Given the description of an element on the screen output the (x, y) to click on. 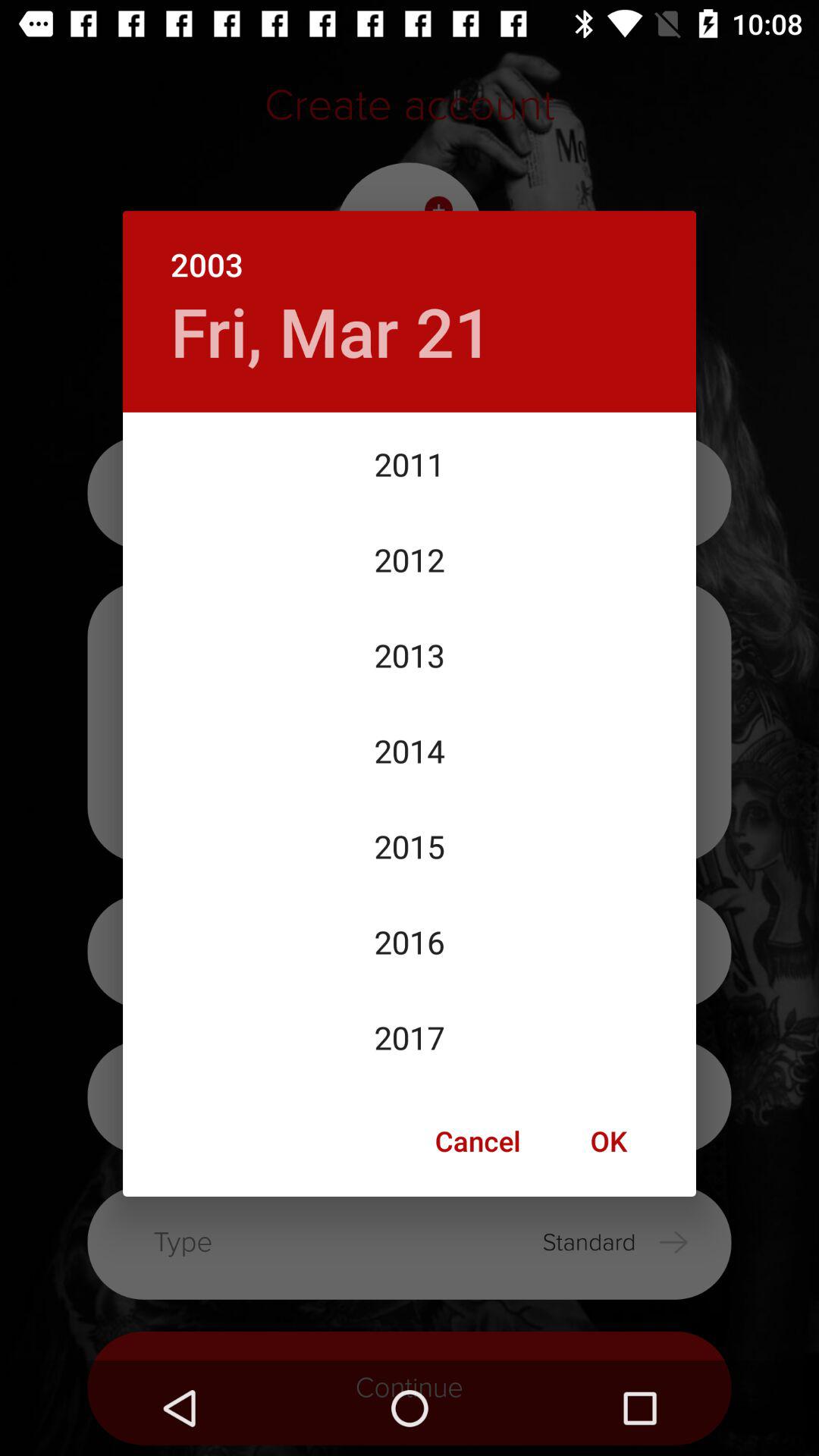
open the icon next to the cancel (608, 1140)
